Given the description of an element on the screen output the (x, y) to click on. 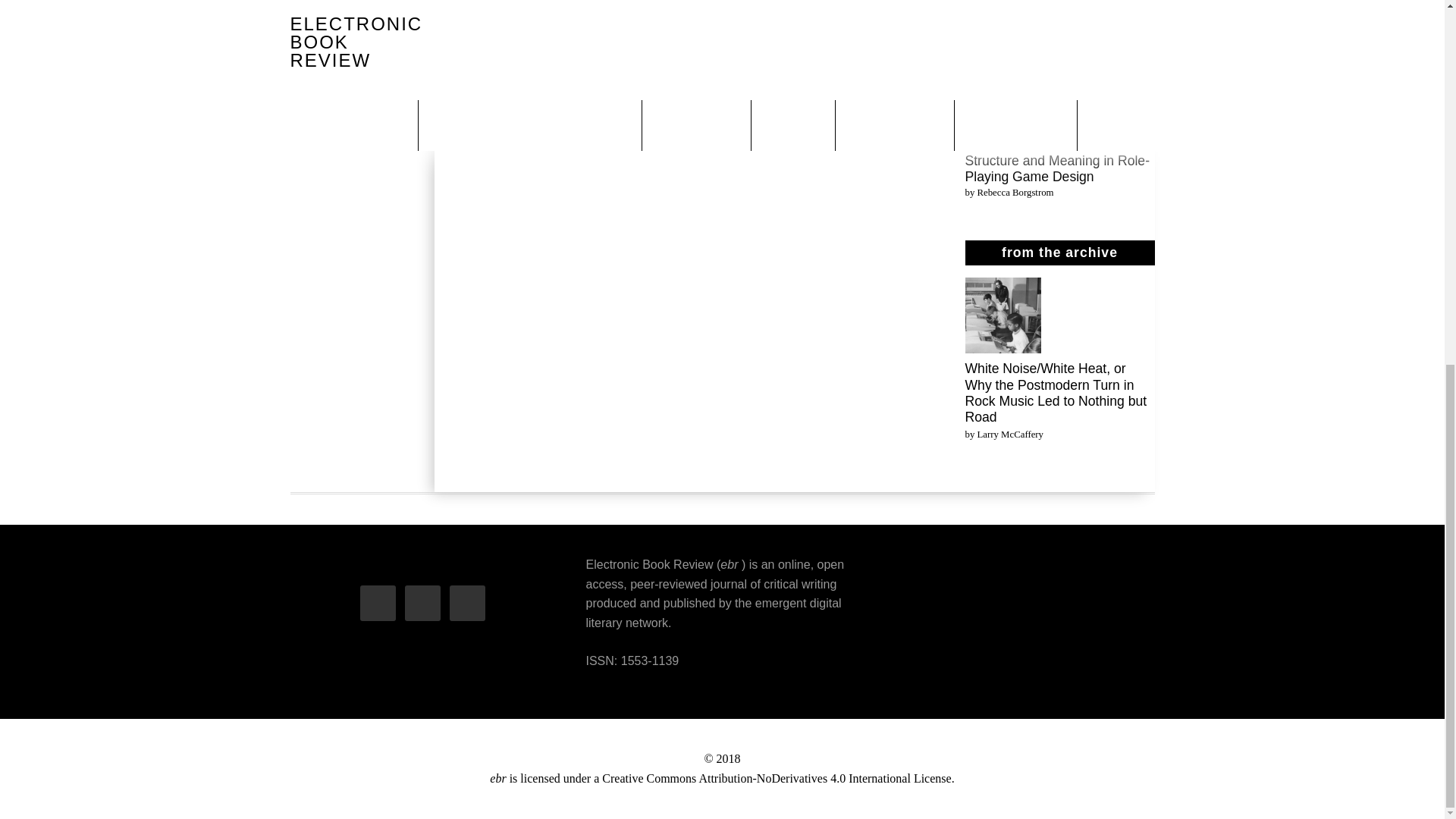
Structure and Meaning in Role-Playing Game Design (1002, 107)
Phoebe Sengers responds in turn (1050, 31)
Structure and Meaning in Role-Playing Game Design (1056, 168)
